Given the description of an element on the screen output the (x, y) to click on. 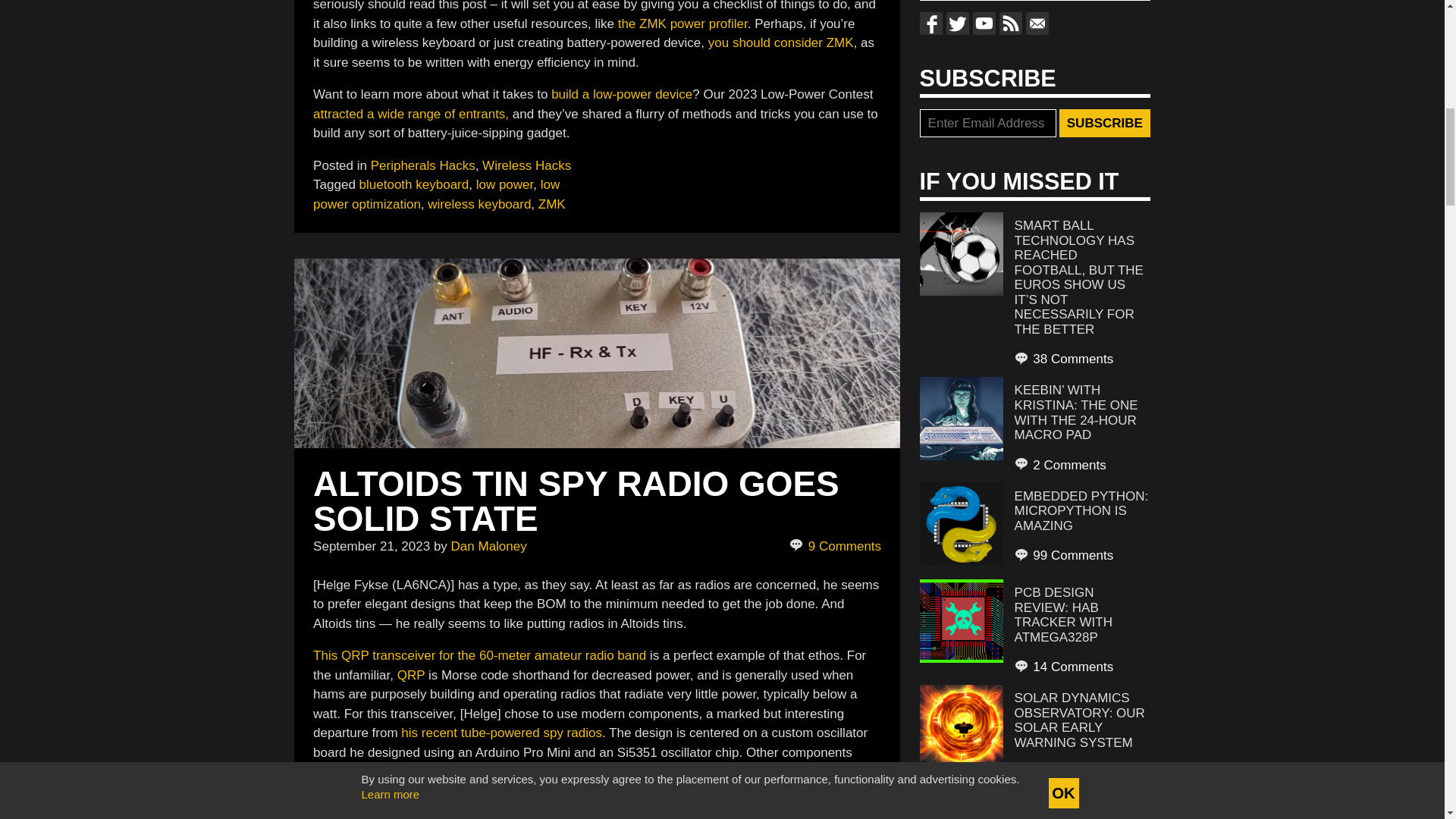
low power (505, 184)
9 Comments (834, 546)
build a low-power device (622, 93)
you should consider ZMK (780, 42)
Wireless Hacks (525, 164)
Dan Maloney (489, 545)
wireless keyboard (479, 204)
Peripherals Hacks (423, 164)
his recent tube-powered spy radios (501, 732)
the ZMK power profiler (682, 23)
ALTOIDS TIN SPY RADIO GOES SOLID STATE (576, 501)
QRP (411, 675)
Subscribe (1104, 123)
September 21, 2023 (371, 545)
attracted a wide range of entrants, (410, 113)
